Given the description of an element on the screen output the (x, y) to click on. 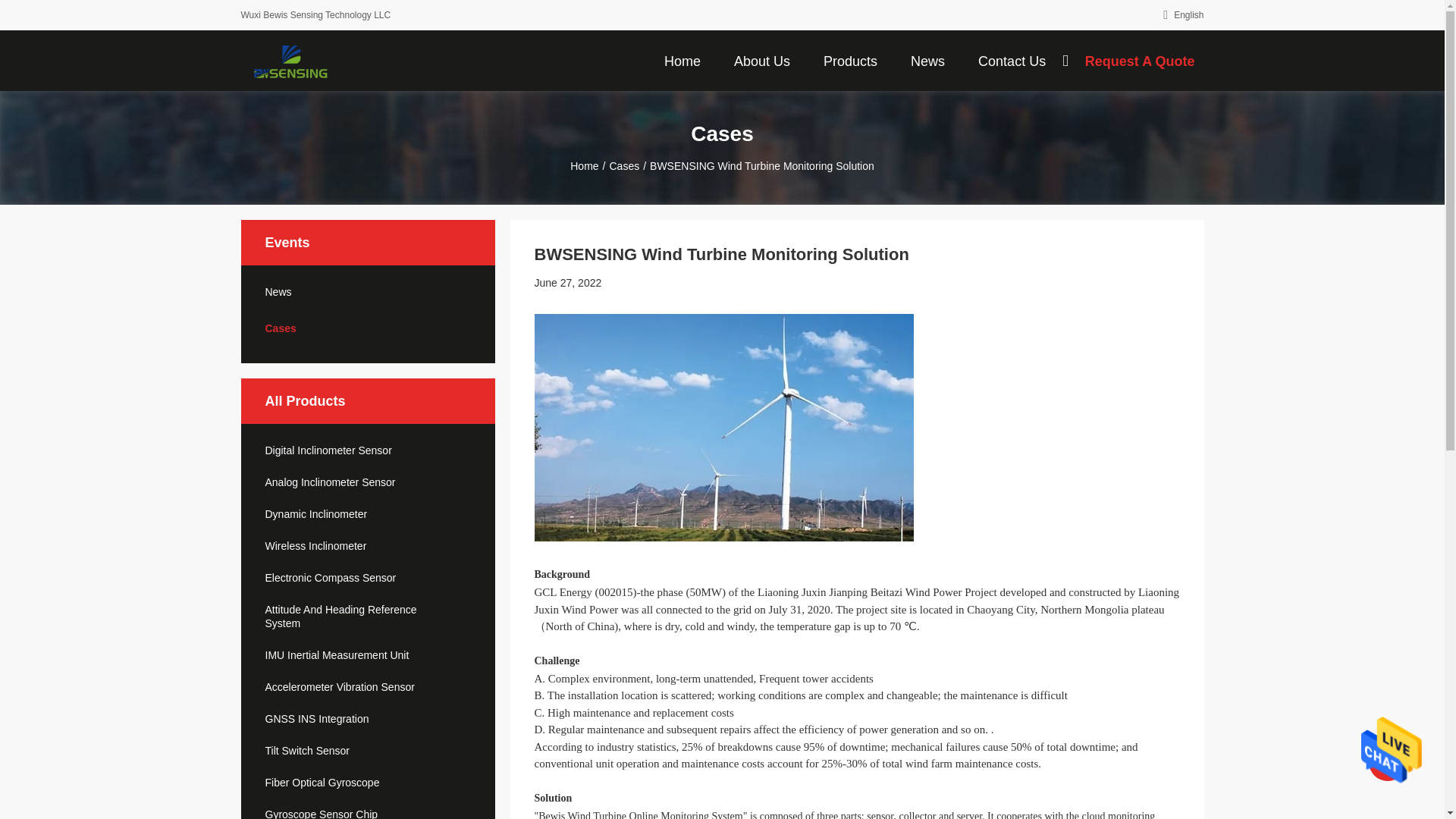
Products (849, 60)
About Us (762, 60)
Home (682, 60)
